Given the description of an element on the screen output the (x, y) to click on. 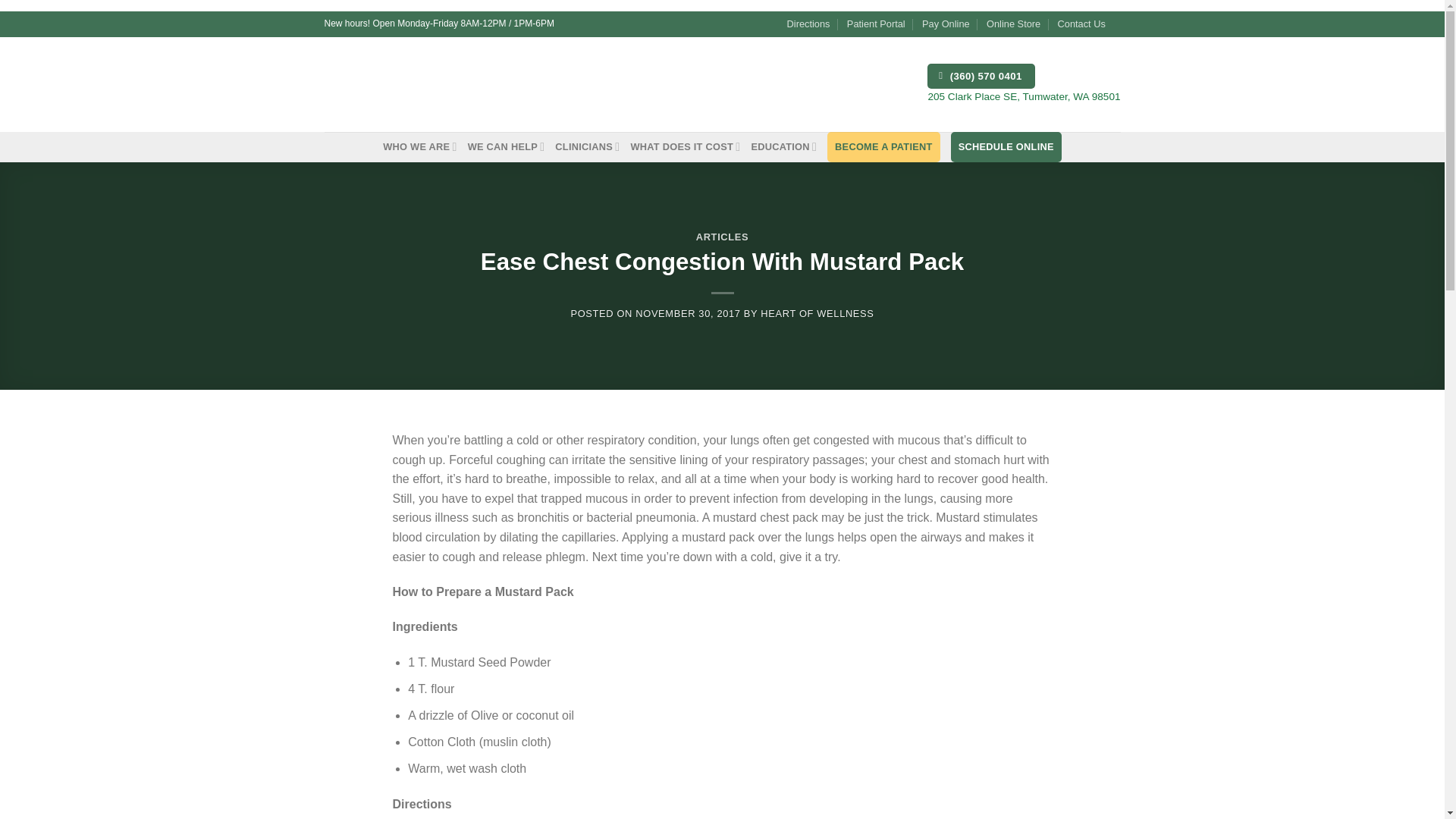
Online Store (1014, 23)
205 Clark Place SE, Tumwater, WA 98501 (1023, 96)
CLINICIANS (587, 146)
WE CAN HELP (505, 146)
Patient Portal (876, 23)
Pay Online (945, 23)
WHO WE ARE (419, 146)
Directions (808, 23)
Contact Us (1081, 23)
